Given the description of an element on the screen output the (x, y) to click on. 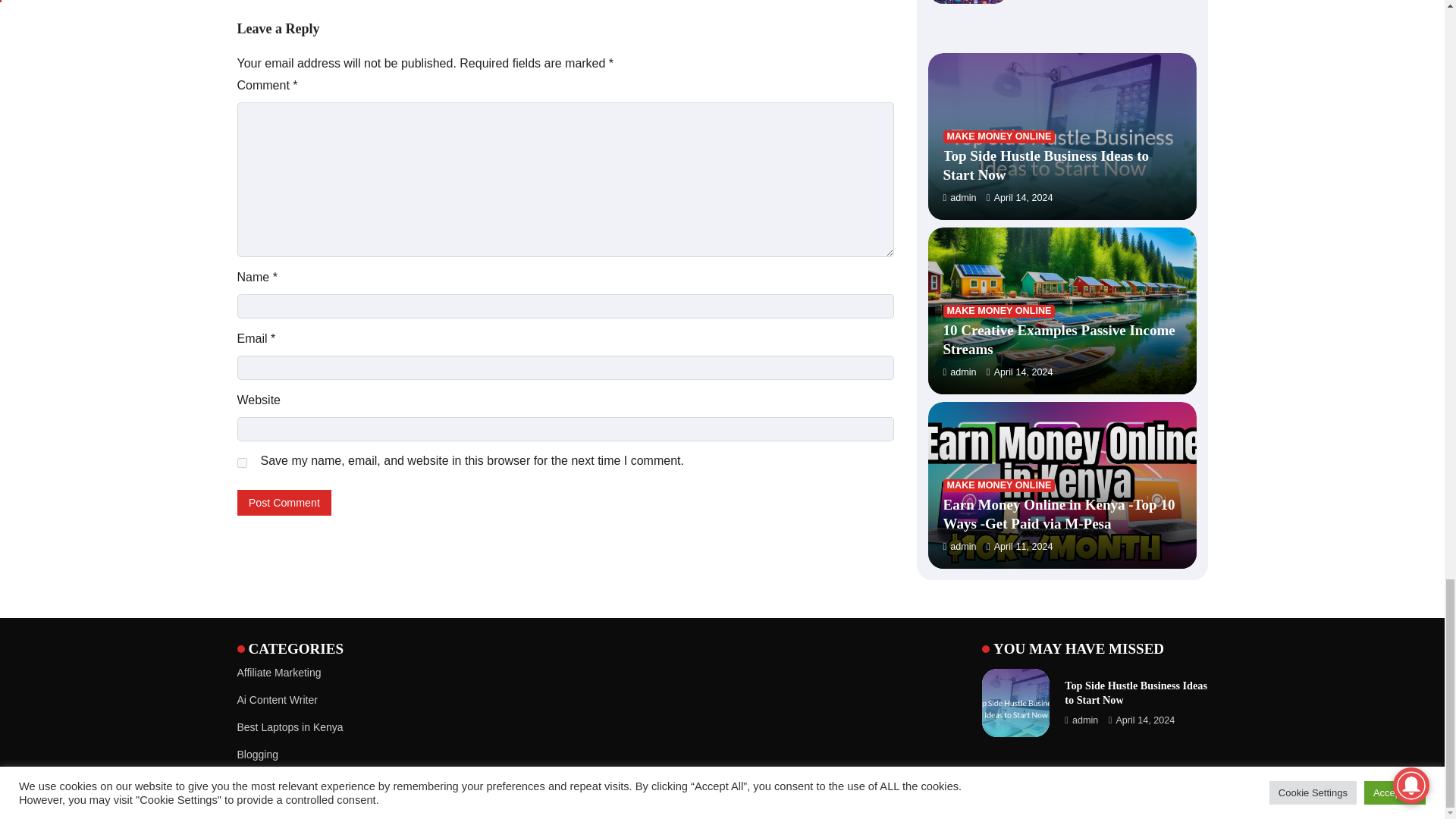
yes (240, 462)
Post Comment (283, 502)
